Given the description of an element on the screen output the (x, y) to click on. 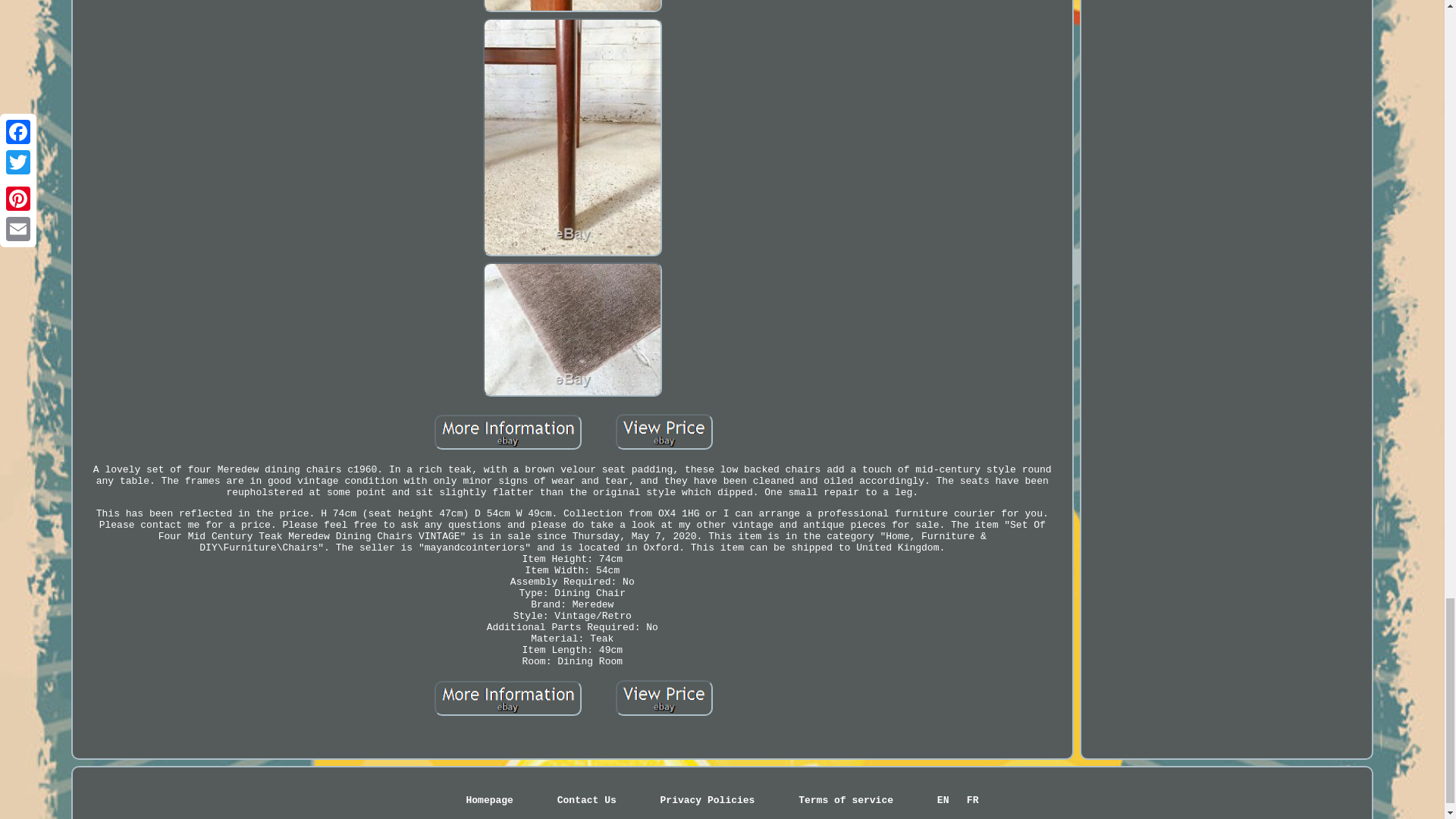
Set Of Four Mid Century Teak Meredew Dining Chairs Vintage (571, 8)
